Given the description of an element on the screen output the (x, y) to click on. 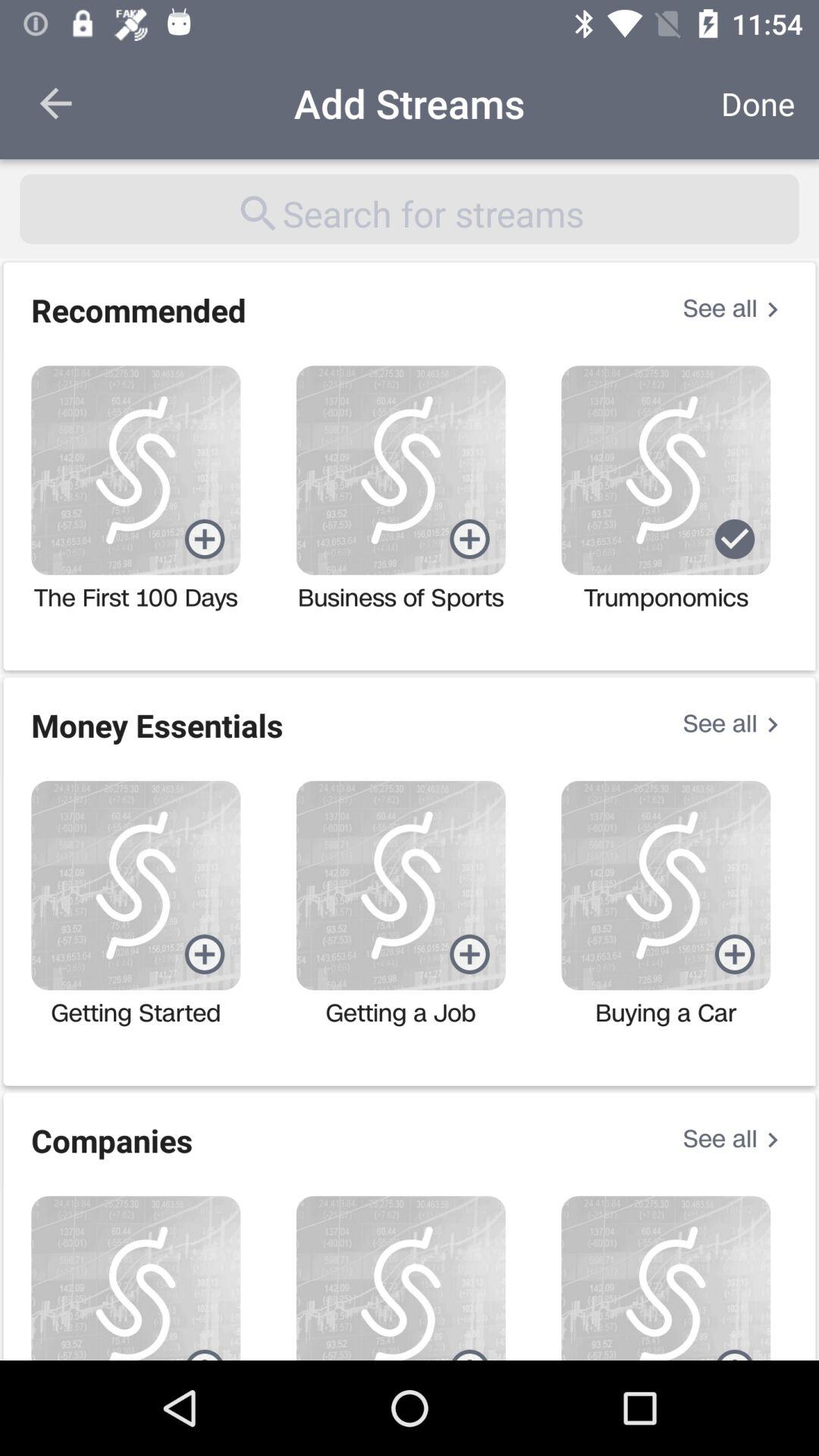
select the icon next to the add streams icon (758, 103)
